Given the description of an element on the screen output the (x, y) to click on. 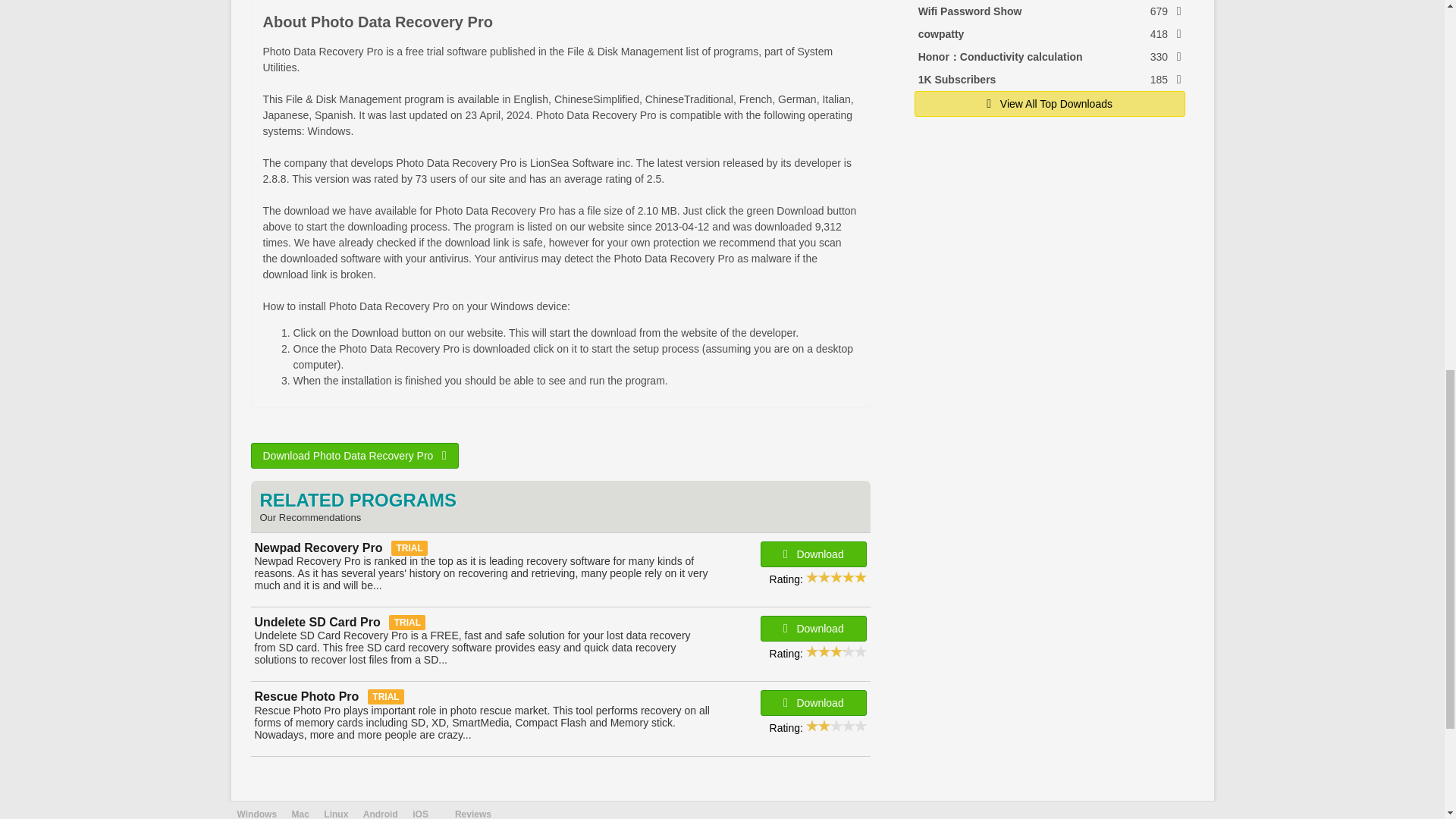
Download Photo Data Recovery Pro   (1049, 11)
  Download (354, 455)
  Download (1049, 33)
  Download (813, 628)
